Given the description of an element on the screen output the (x, y) to click on. 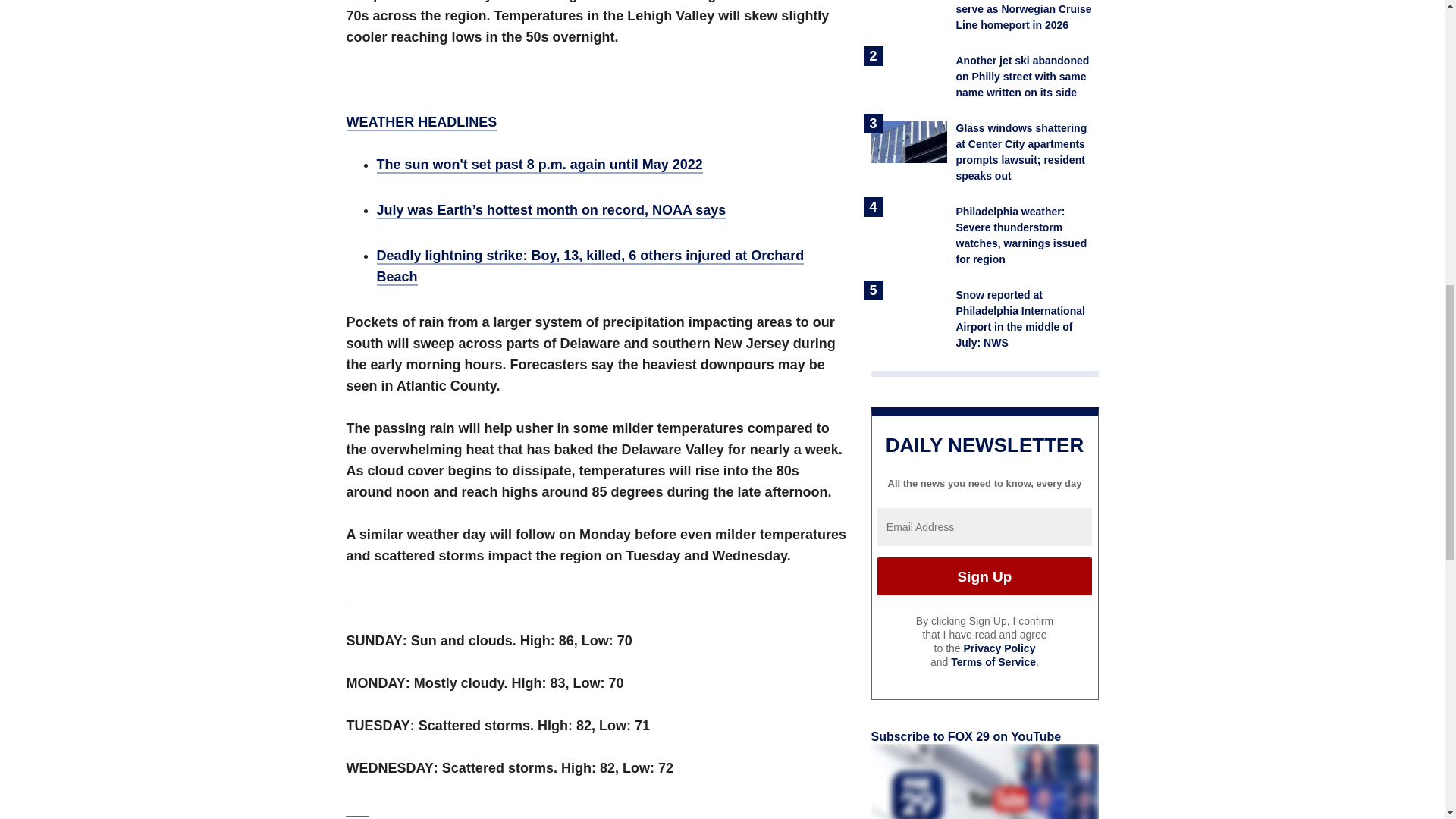
Sign Up (984, 576)
